Given the description of an element on the screen output the (x, y) to click on. 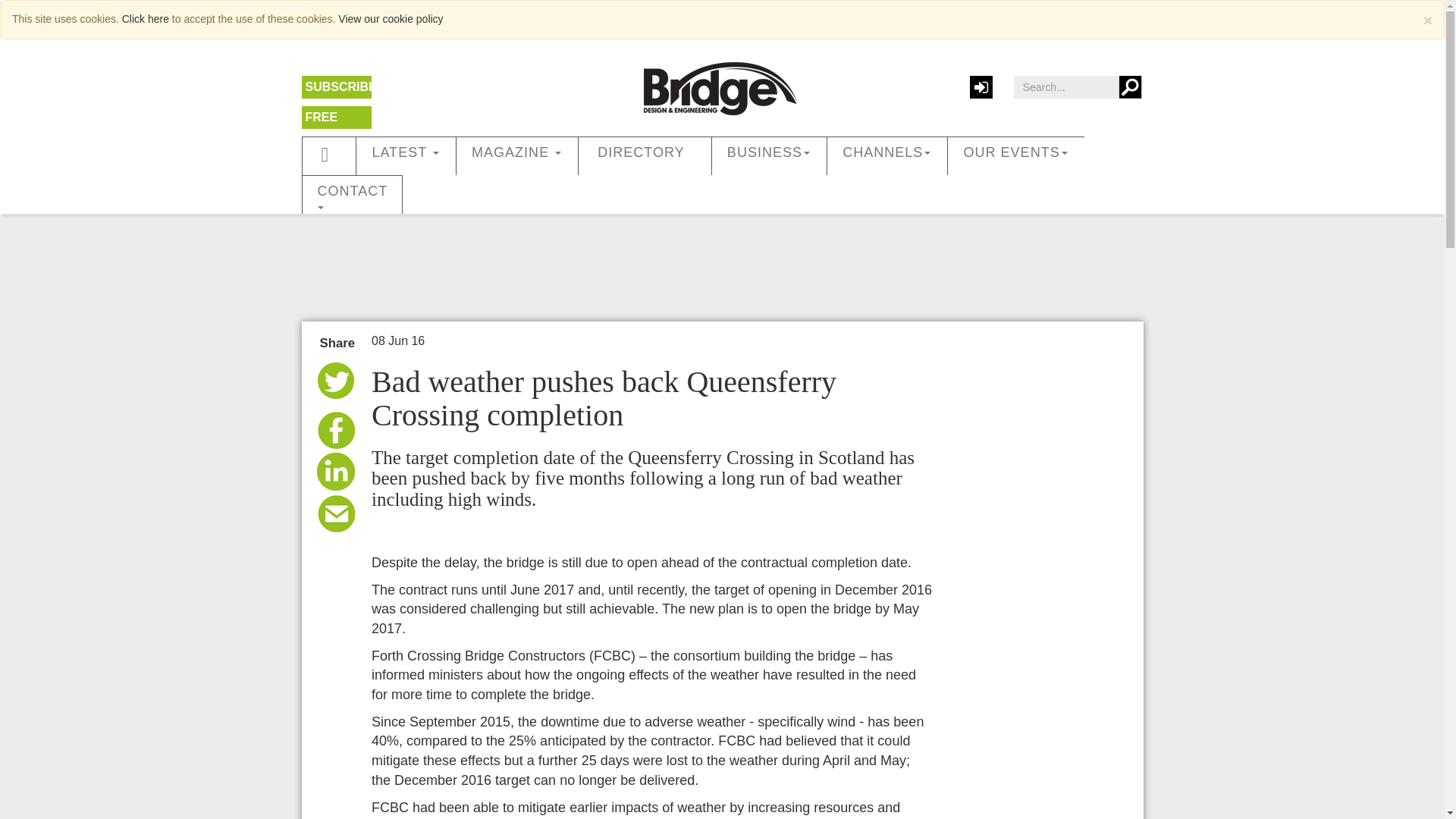
Click here (145, 19)
sign-in-icon (980, 87)
MAGAZINE (517, 156)
View our cookie policy (389, 19)
LATEST (405, 156)
DIRECTORY (644, 156)
BUSINESS (769, 156)
CHANNELS (887, 156)
FREE TRIAL (322, 125)
SUBSCRIBE (339, 86)
3rd party ad content (721, 264)
